Given the description of an element on the screen output the (x, y) to click on. 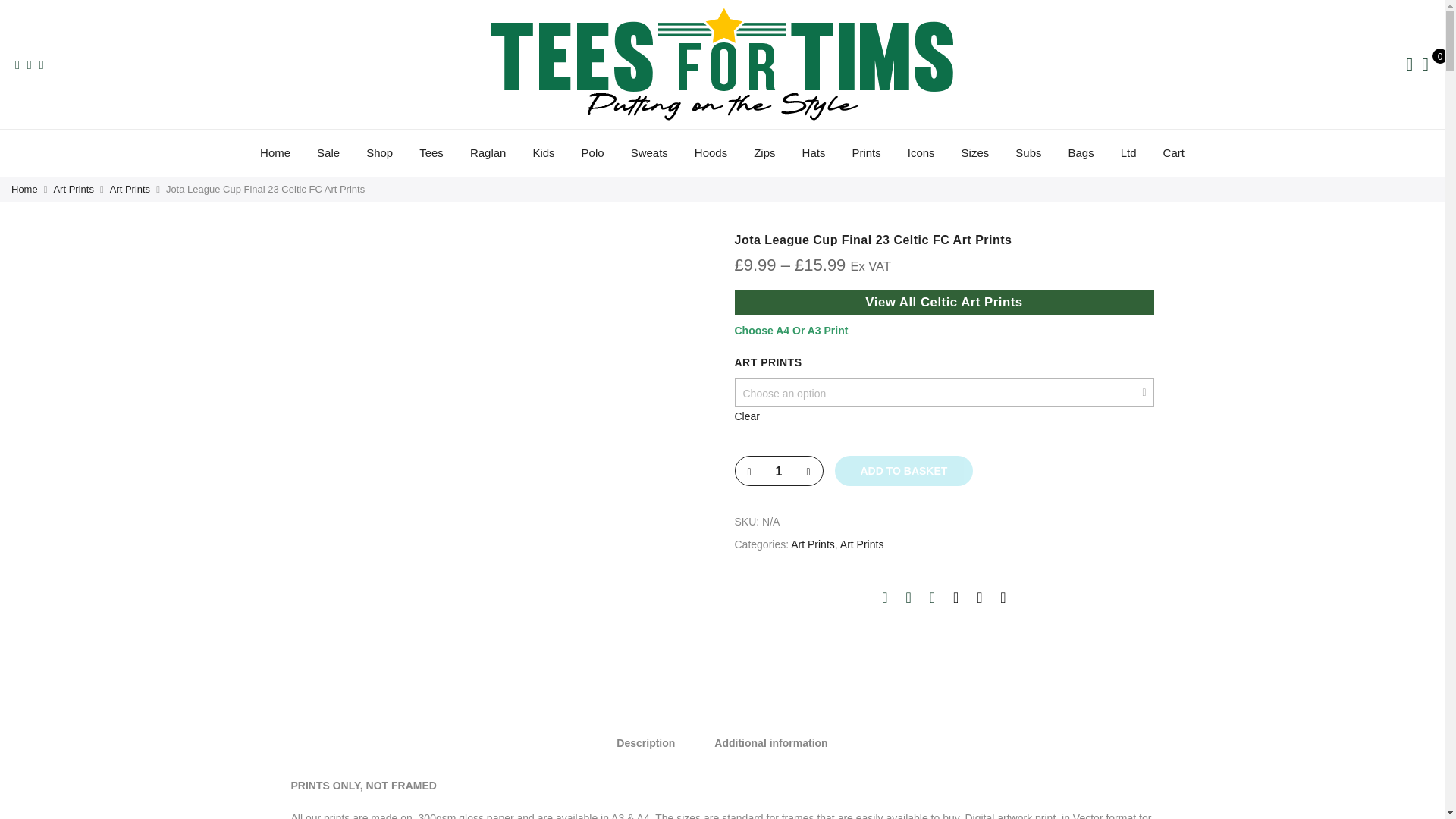
Icons (920, 152)
Tees (431, 152)
Sale (328, 152)
Qty (778, 471)
Shop (379, 152)
Hoods (710, 152)
Sweats (649, 152)
Home (274, 152)
Hats (813, 152)
1 (778, 471)
